Given the description of an element on the screen output the (x, y) to click on. 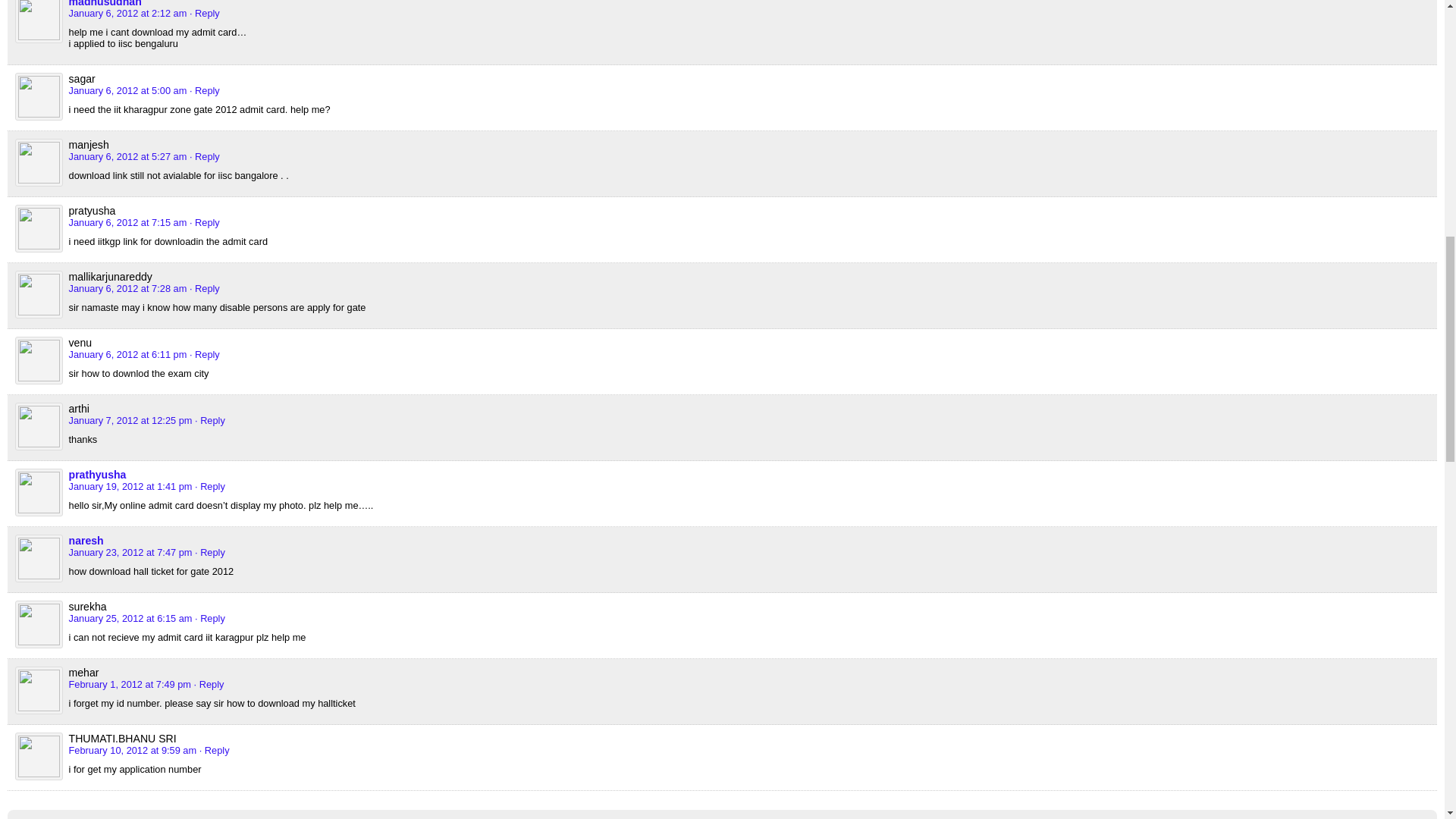
January 6, 2012 at 2:12 am (127, 12)
January 6, 2012 at 5:00 am (127, 90)
January 6, 2012 at 7:28 am (127, 288)
January 6, 2012 at 6:11 pm (127, 354)
January 6, 2012 at 7:15 am (127, 222)
January 6, 2012 at 5:27 am (127, 156)
January 7, 2012 at 12:25 pm (130, 419)
madhusudhan (104, 3)
